Given the description of an element on the screen output the (x, y) to click on. 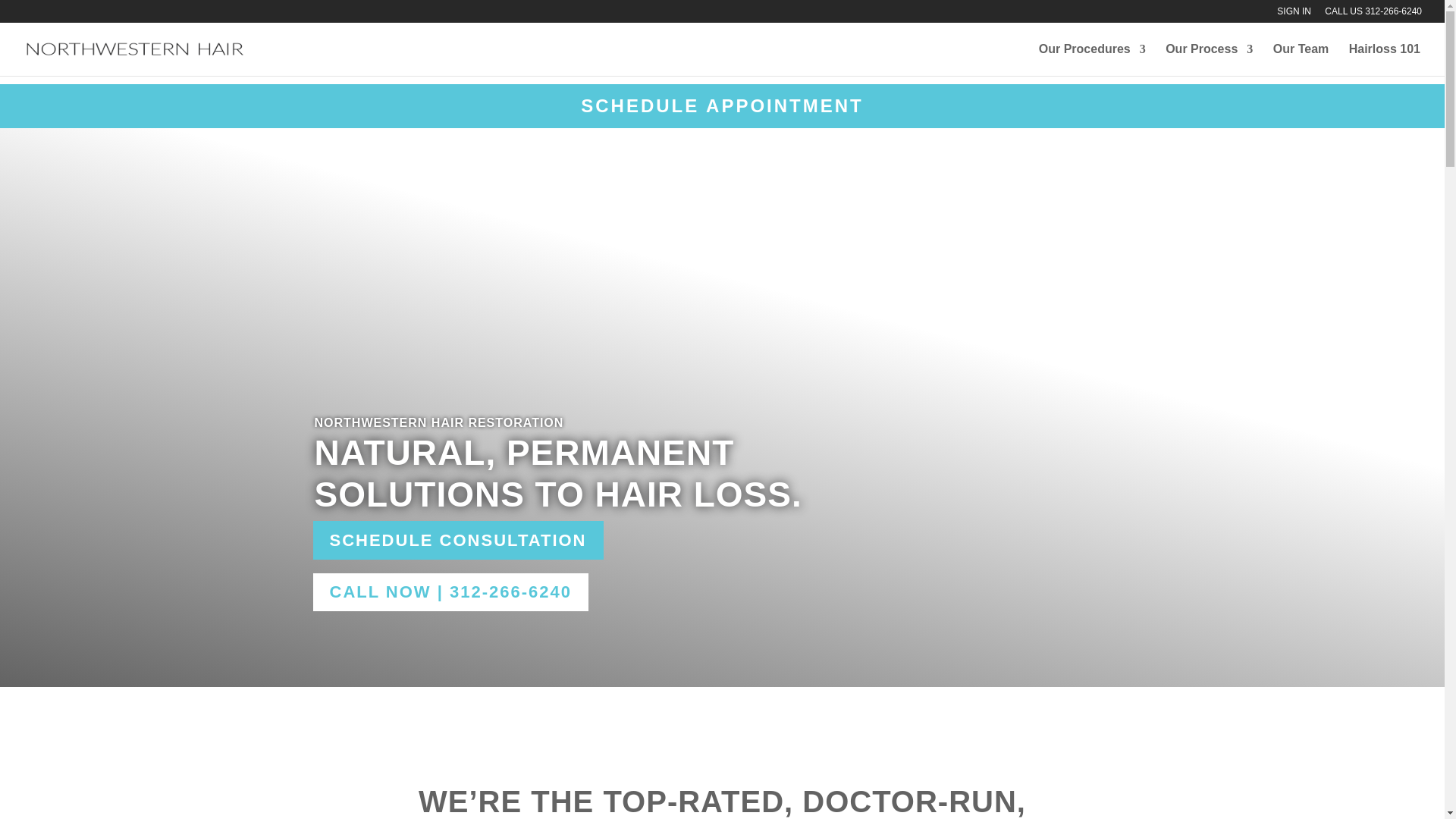
SCHEDULE CONSULTATION (457, 539)
SIGN IN (1293, 14)
CALL US 312-266-6240 (1373, 14)
Hairloss 101 (1385, 60)
Our Procedures (1092, 60)
Our Team (1300, 60)
Our Process (1209, 60)
Our Process (1209, 60)
Our Procedures (1092, 60)
